Given the description of an element on the screen output the (x, y) to click on. 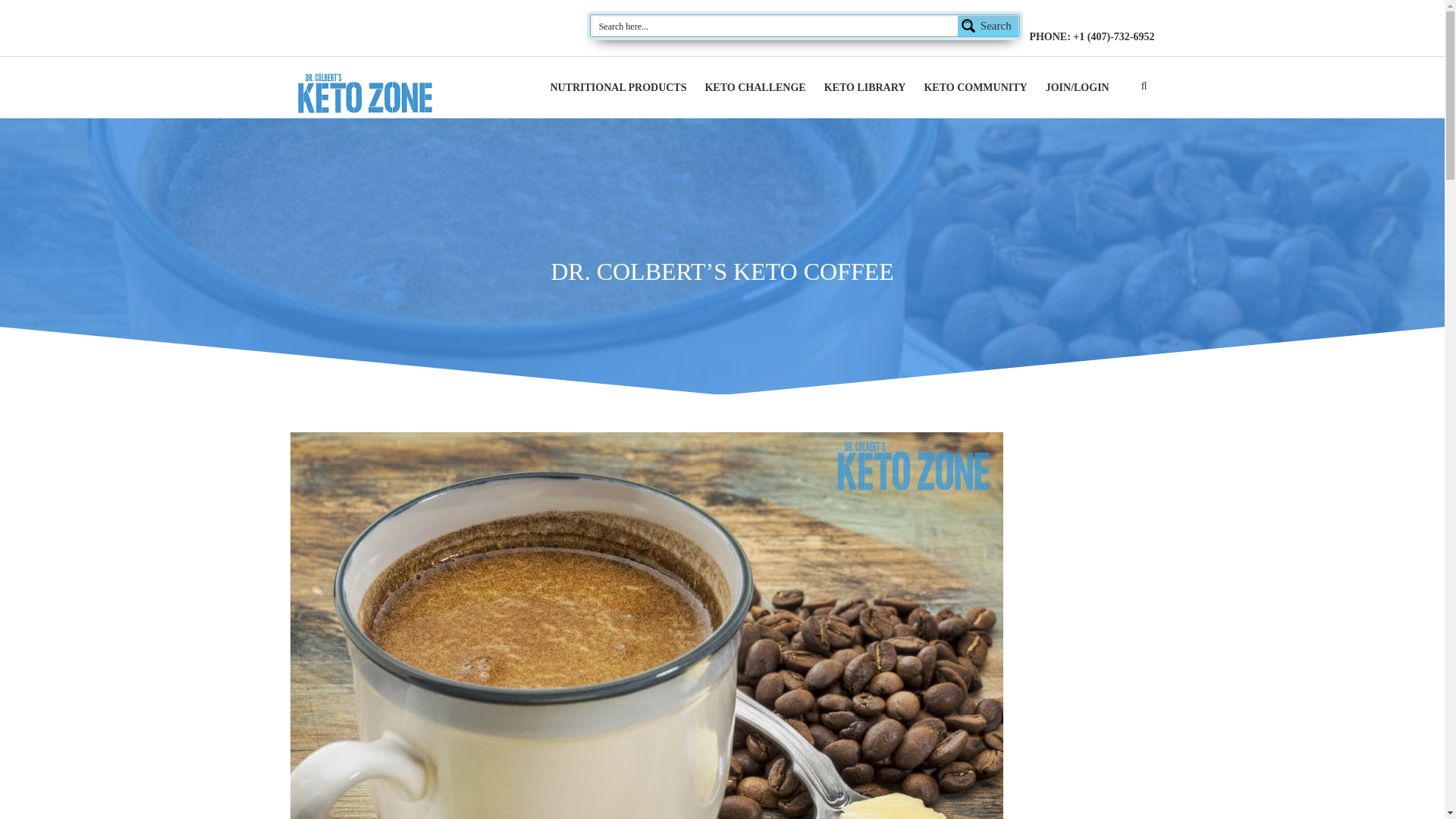
NUTRITIONAL PRODUCTS (617, 87)
KETO CHALLENGE (754, 87)
KETO LIBRARY (864, 87)
Search (804, 25)
KETO COMMUNITY (974, 87)
